Given the description of an element on the screen output the (x, y) to click on. 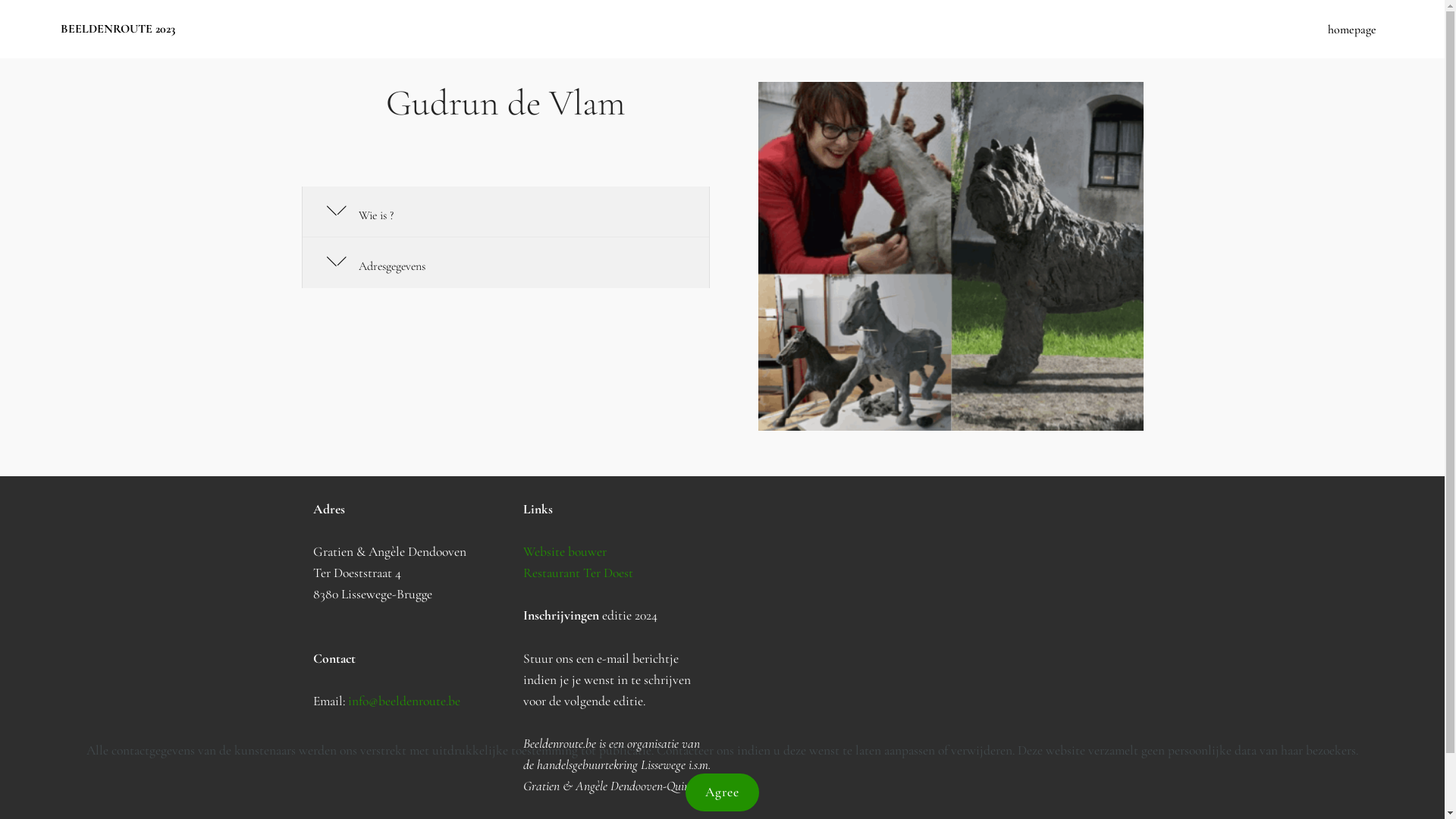
Wie is ? Element type: text (505, 211)
Restaurant Ter Doest Element type: text (578, 572)
Website bouwer Element type: text (564, 551)
BEELDENROUTE 2023 Element type: text (129, 28)
Adresgegevens Element type: text (505, 261)
homepage Element type: text (1351, 28)
info@beeldenroute.be Element type: text (403, 701)
Agree Element type: text (722, 792)
